Given the description of an element on the screen output the (x, y) to click on. 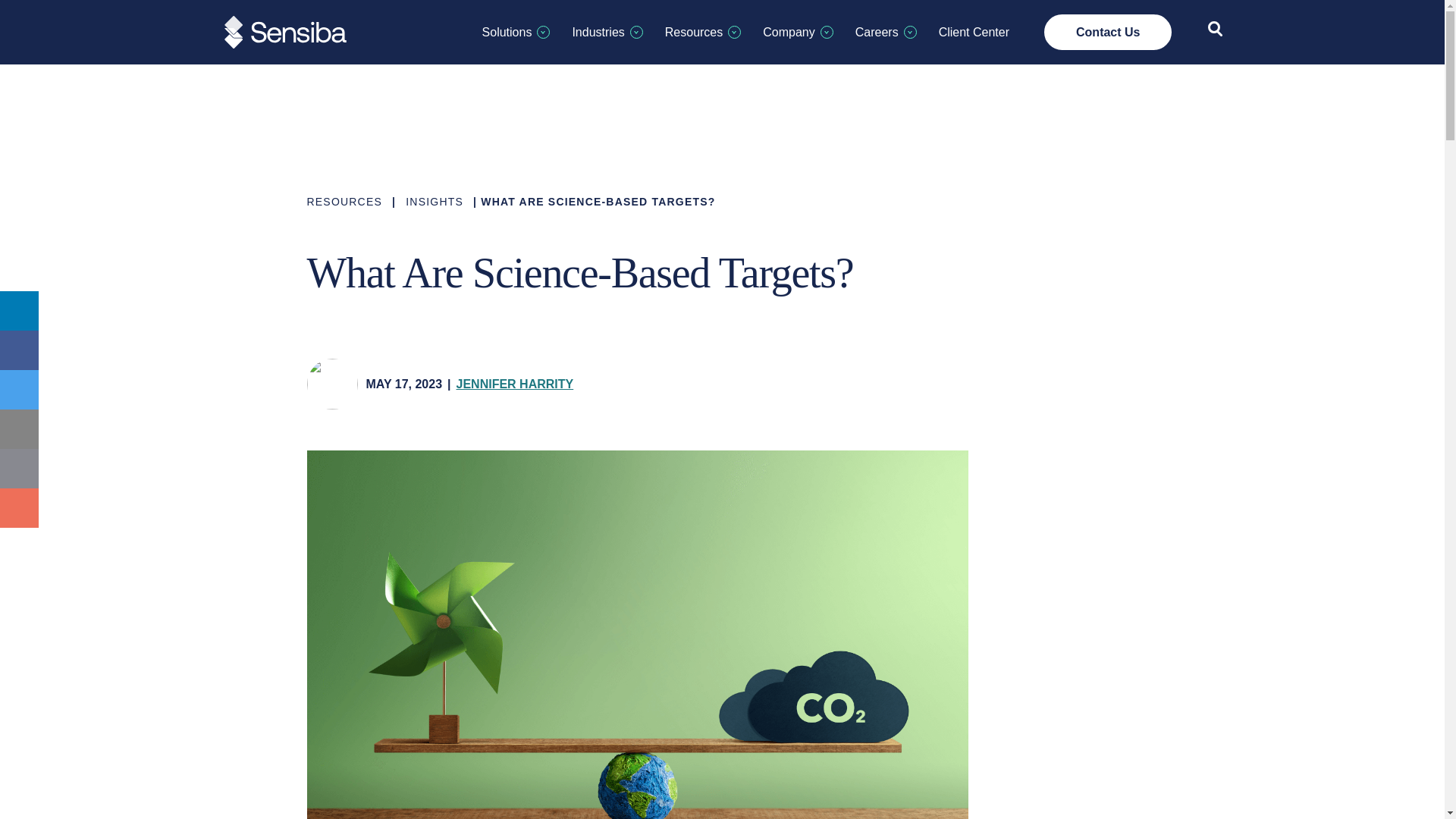
Twitter (19, 389)
Industries (607, 31)
LinkedIn (19, 310)
Email (19, 428)
Solutions (515, 31)
Facebook (19, 350)
Copy Link (19, 468)
